Given the description of an element on the screen output the (x, y) to click on. 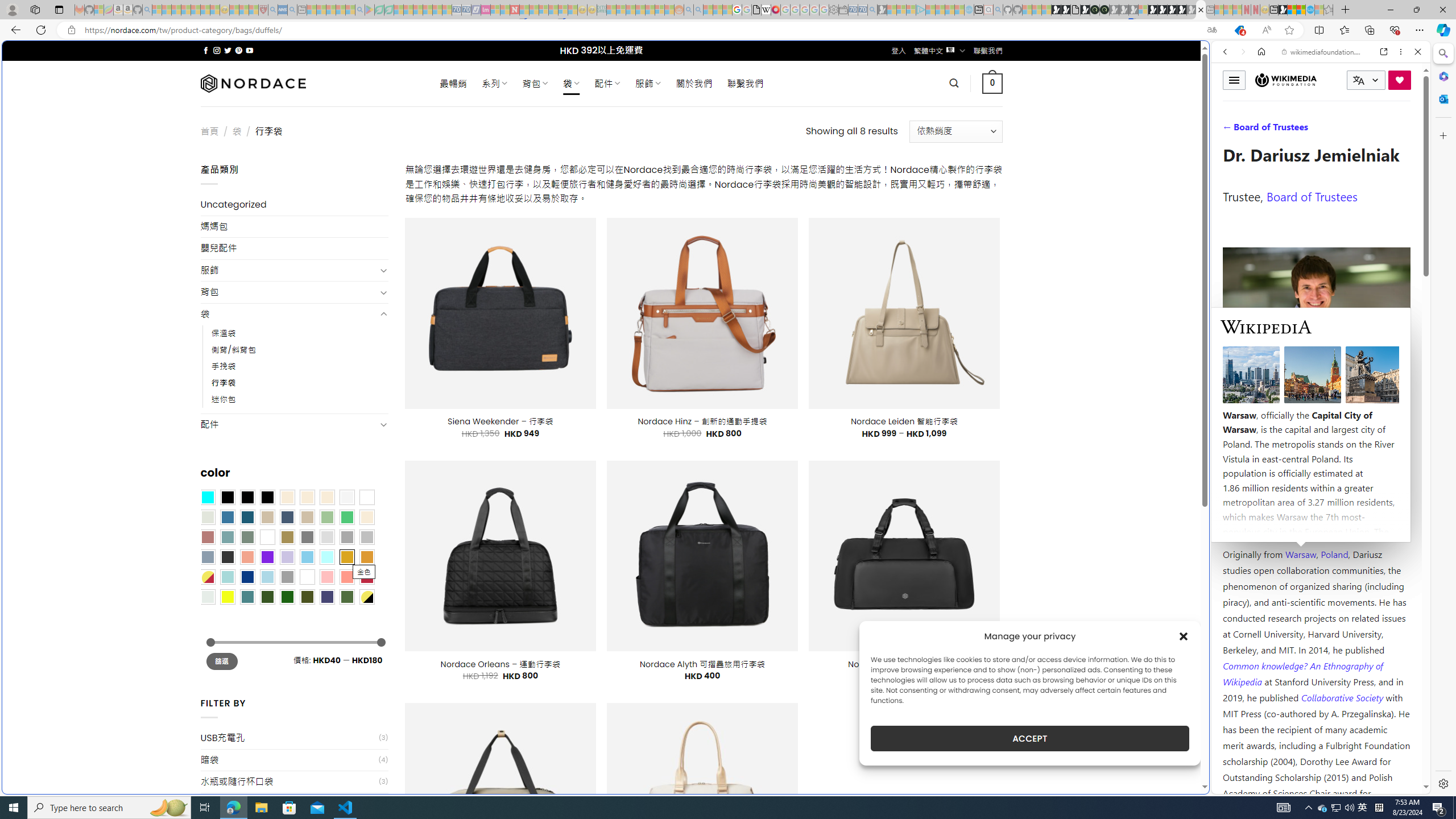
World - MSN (1291, 9)
Follow on YouTube (249, 50)
Collaborative Society  (1343, 697)
